Given the description of an element on the screen output the (x, y) to click on. 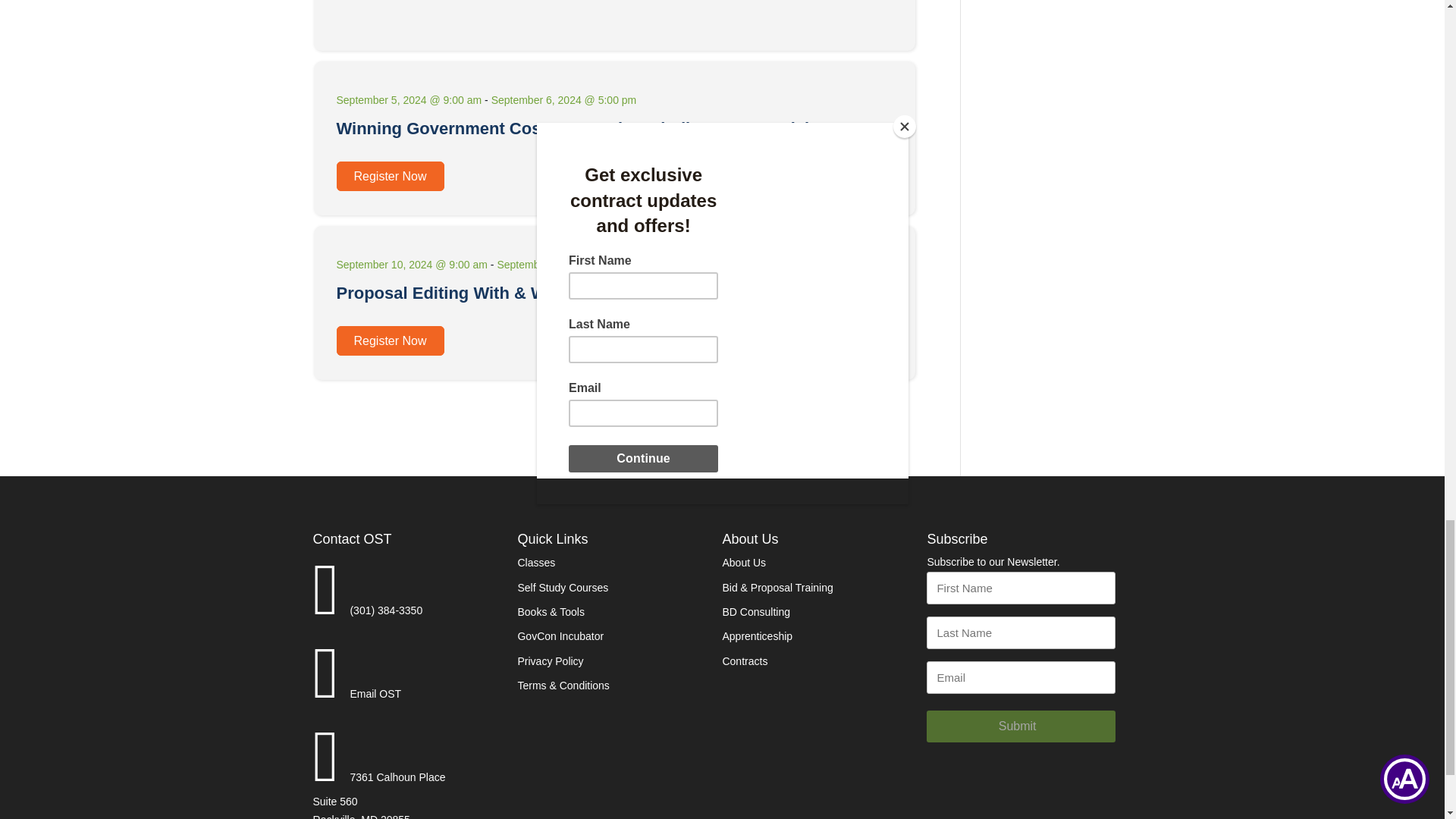
Submit (1020, 726)
Winning Government Cost Proposals Including AI Essentials (577, 128)
